Given the description of an element on the screen output the (x, y) to click on. 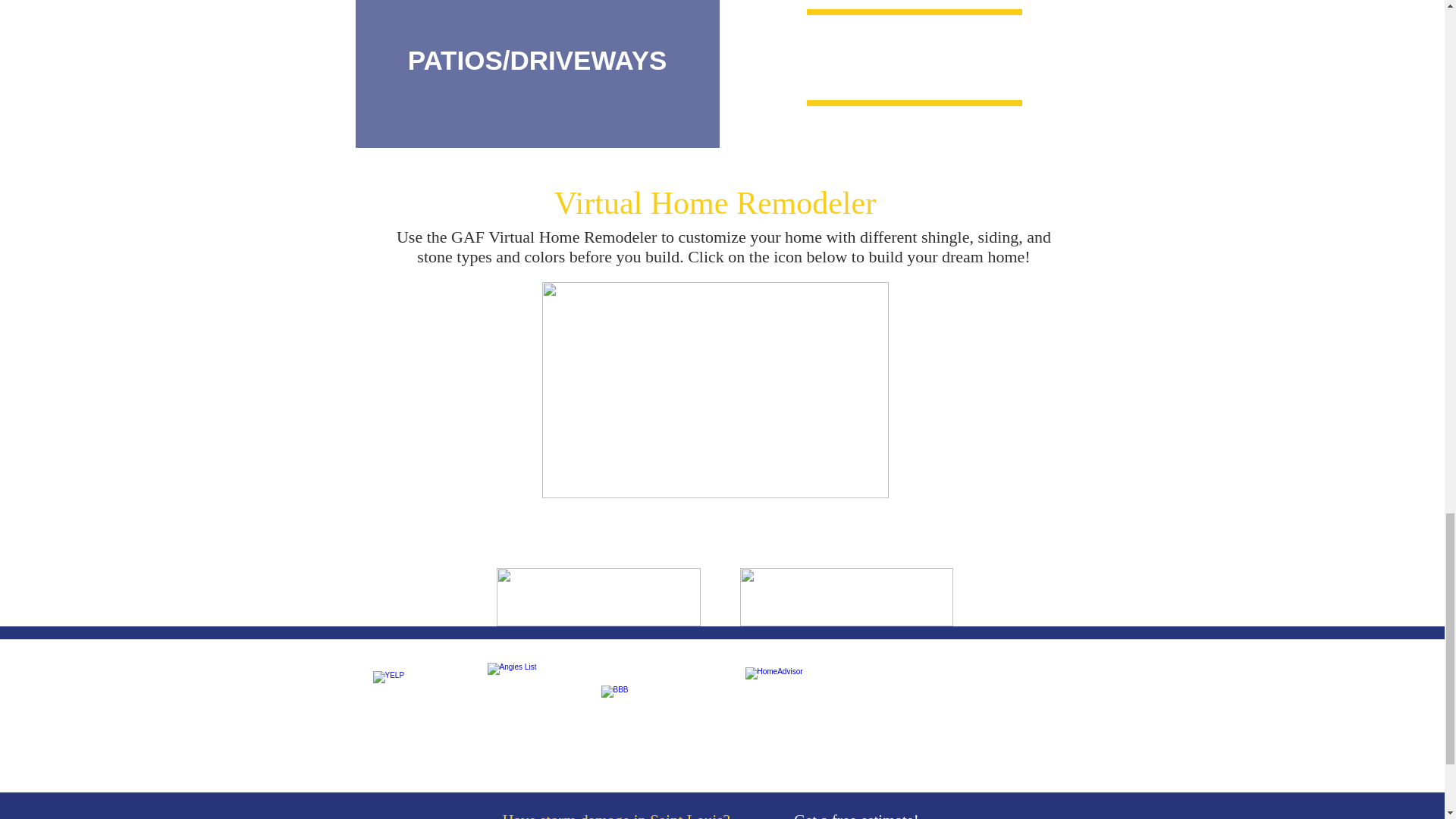
BBB (665, 709)
YELP (414, 709)
Angies List (535, 709)
HomeAdvisor (793, 712)
Construction Worker Spreading Wet Concrete.jpg (537, 76)
